Given the description of an element on the screen output the (x, y) to click on. 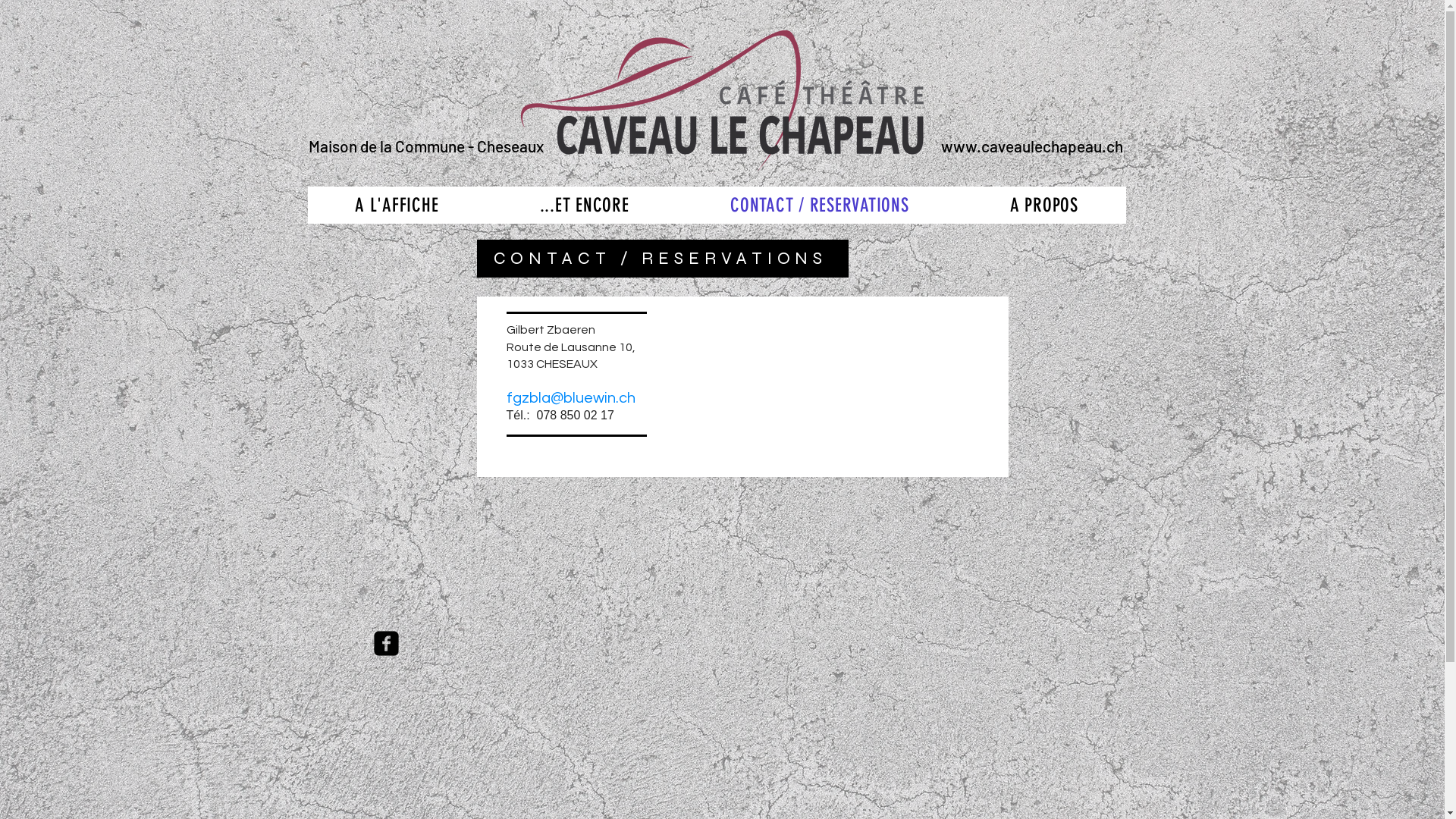
Google Maps Element type: hover (741, 569)
CONTACT / RESERVATIONS Element type: text (819, 204)
fgzbla@bluewin.ch Element type: text (570, 397)
A L'AFFICHE Element type: text (396, 204)
www.caveaulechapeau.ch Element type: text (1032, 145)
A PROPOS Element type: text (1043, 204)
...ET ENCORE Element type: text (584, 204)
